Given the description of an element on the screen output the (x, y) to click on. 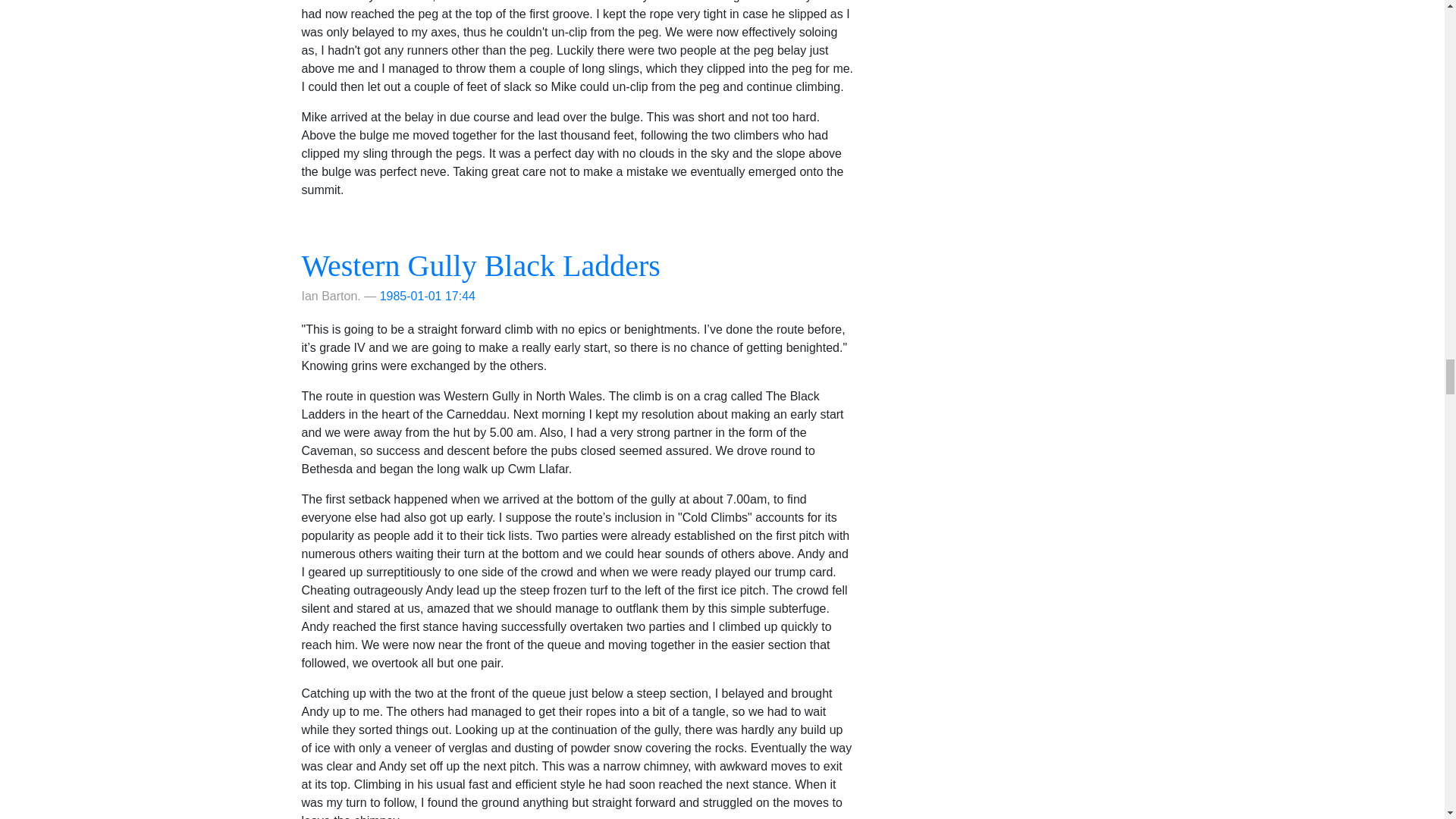
1985-01-01 17:44 (428, 295)
Western Gully Black Ladders (481, 265)
1985-01-01 17:44 (428, 295)
